Given the description of an element on the screen output the (x, y) to click on. 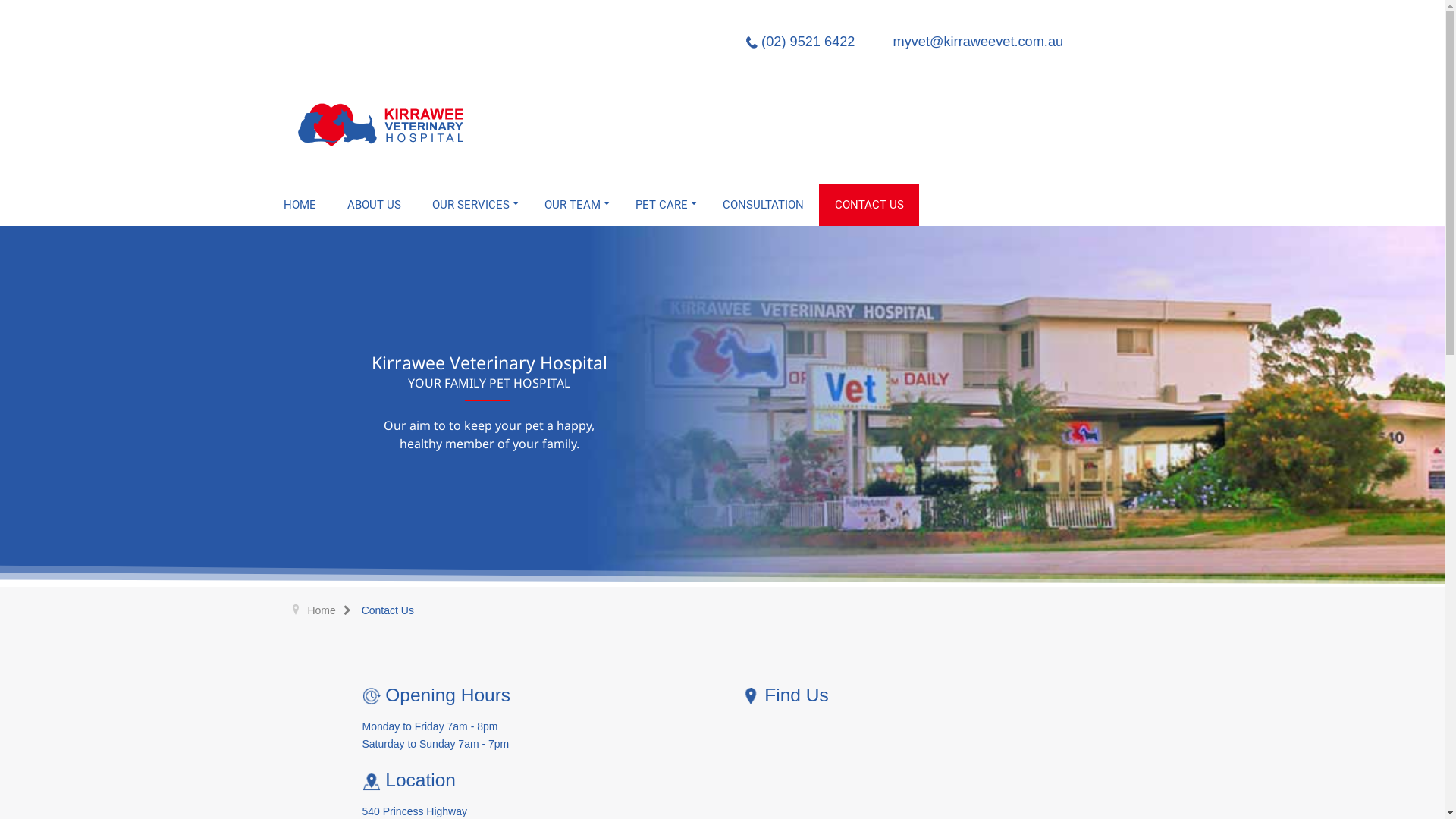
CONTACT US Element type: text (868, 204)
OUR SERVICES Element type: text (472, 204)
HOME Element type: text (299, 204)
CONSULTATION Element type: text (762, 204)
ABOUT US Element type: text (374, 204)
OUR TEAM Element type: text (574, 204)
Home Element type: text (332, 610)
PET CARE Element type: text (663, 204)
